Given the description of an element on the screen output the (x, y) to click on. 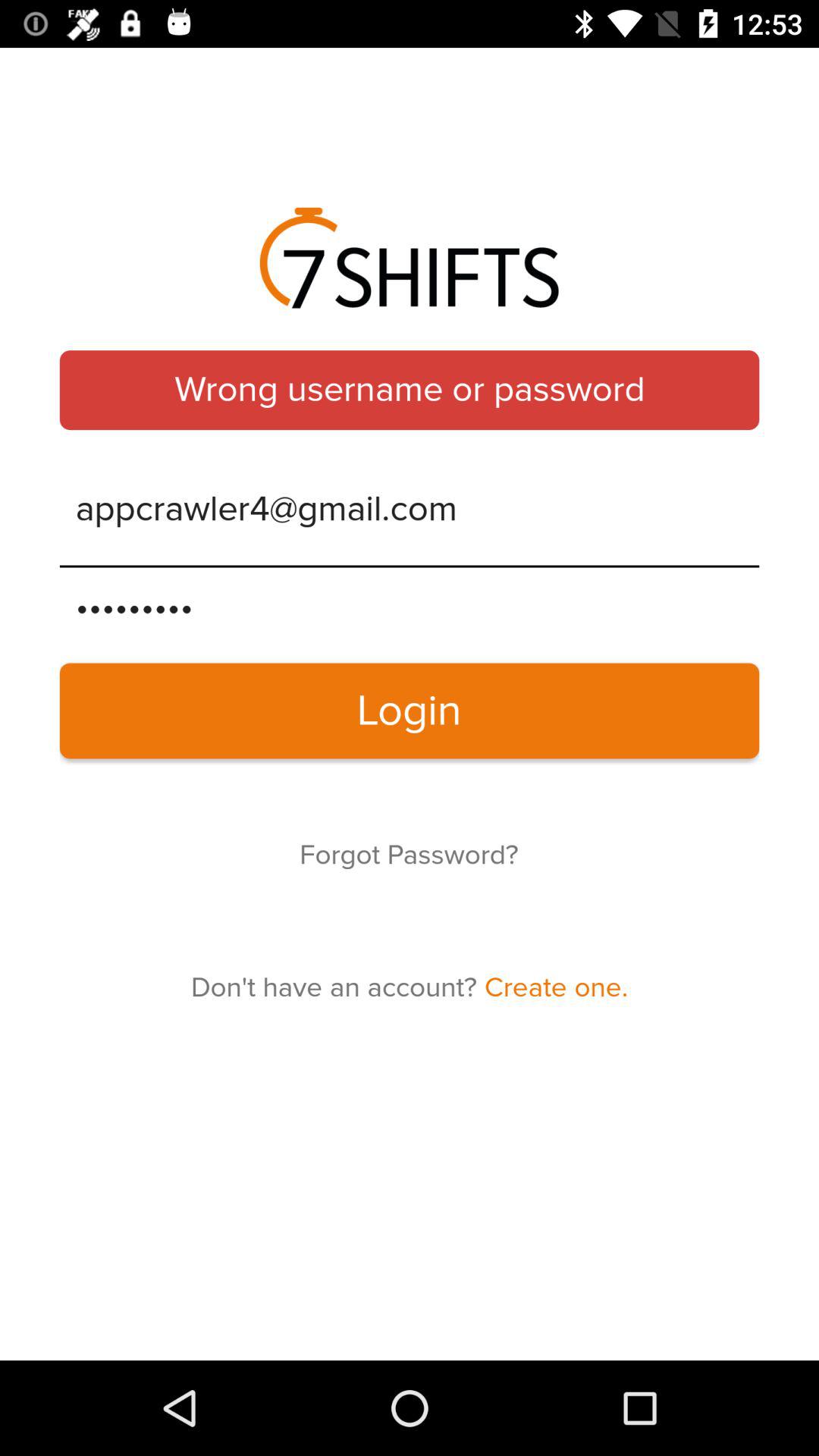
click the item below the crowd3116 (409, 710)
